Given the description of an element on the screen output the (x, y) to click on. 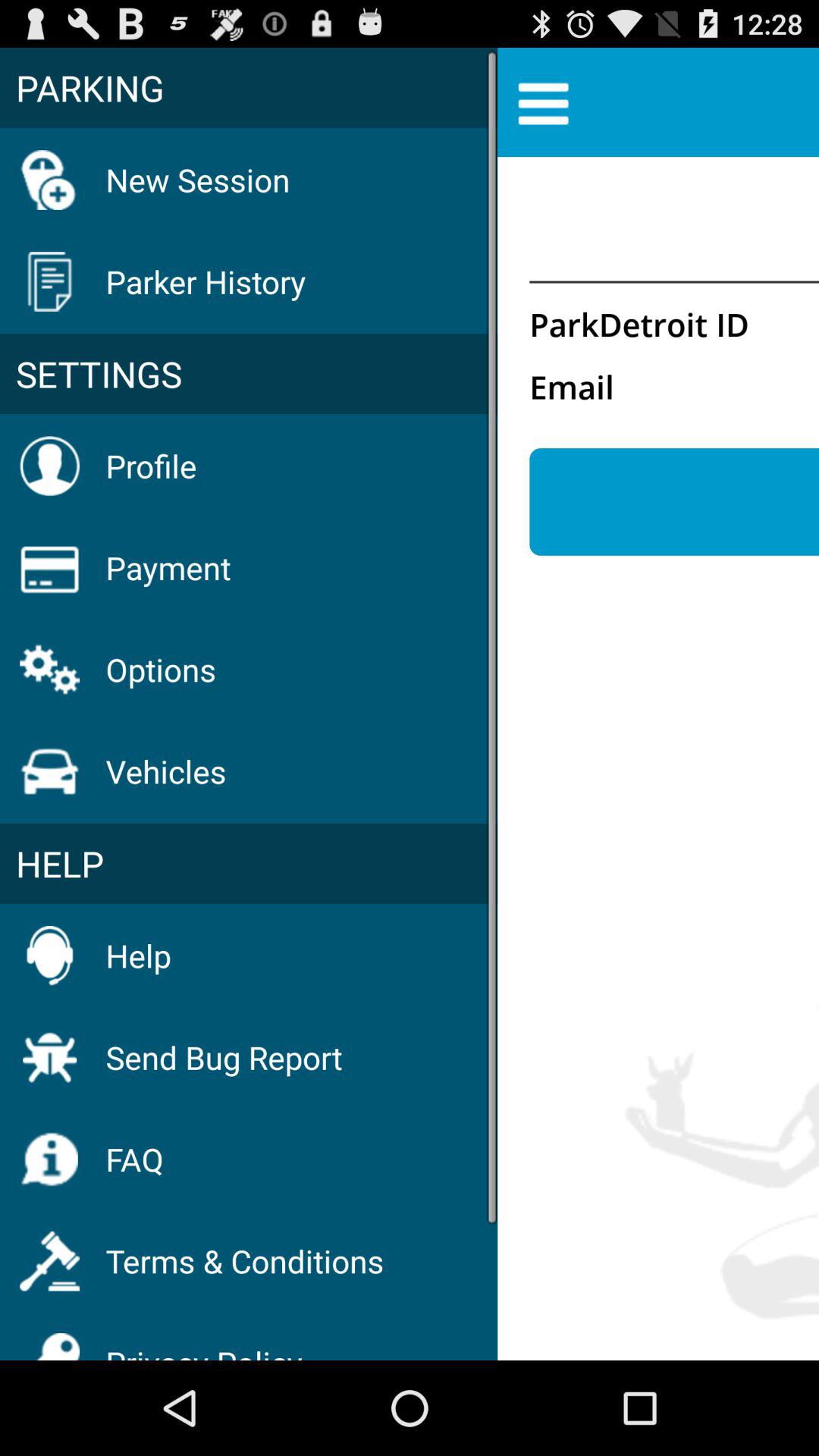
press the icon above the faq (223, 1056)
